Given the description of an element on the screen output the (x, y) to click on. 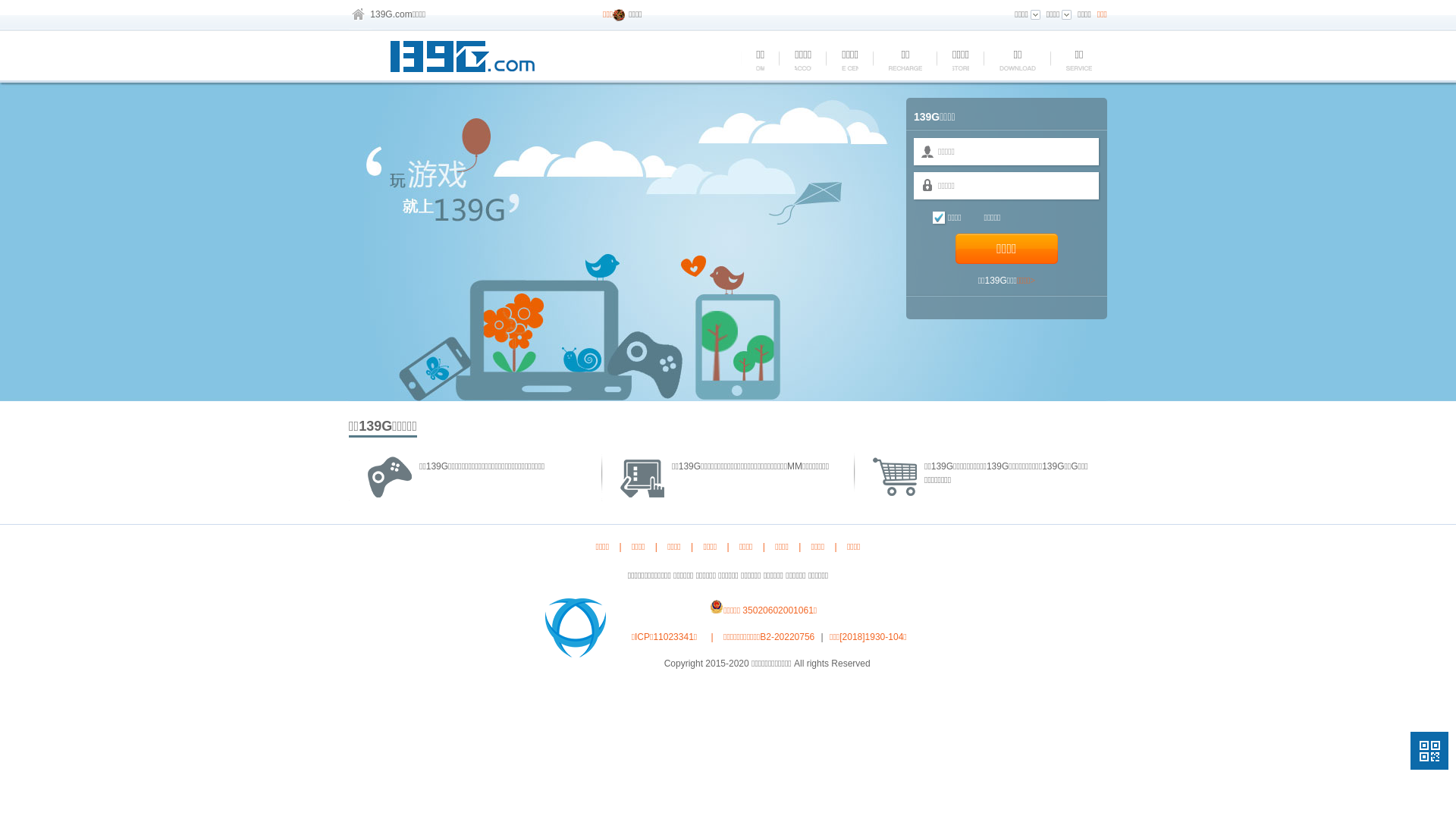
mgwab.png Element type: hover (716, 606)
139G Element type: text (466, 58)
139G.com Element type: text (390, 14)
